Given the description of an element on the screen output the (x, y) to click on. 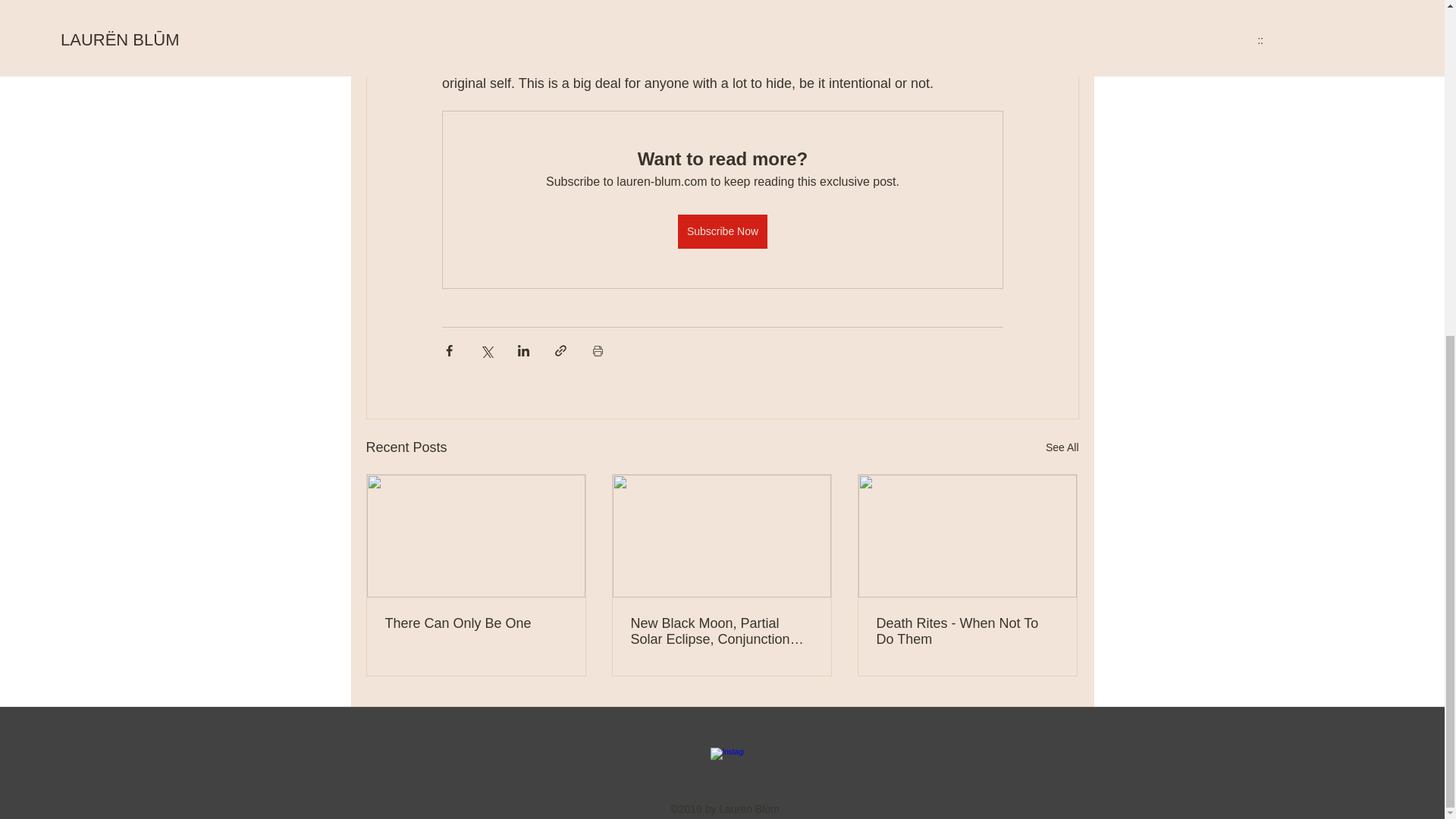
See All (1061, 447)
Death Rites - When Not To Do Them (967, 631)
There Can Only Be One (476, 623)
Subscribe Now (722, 231)
